Given the description of an element on the screen output the (x, y) to click on. 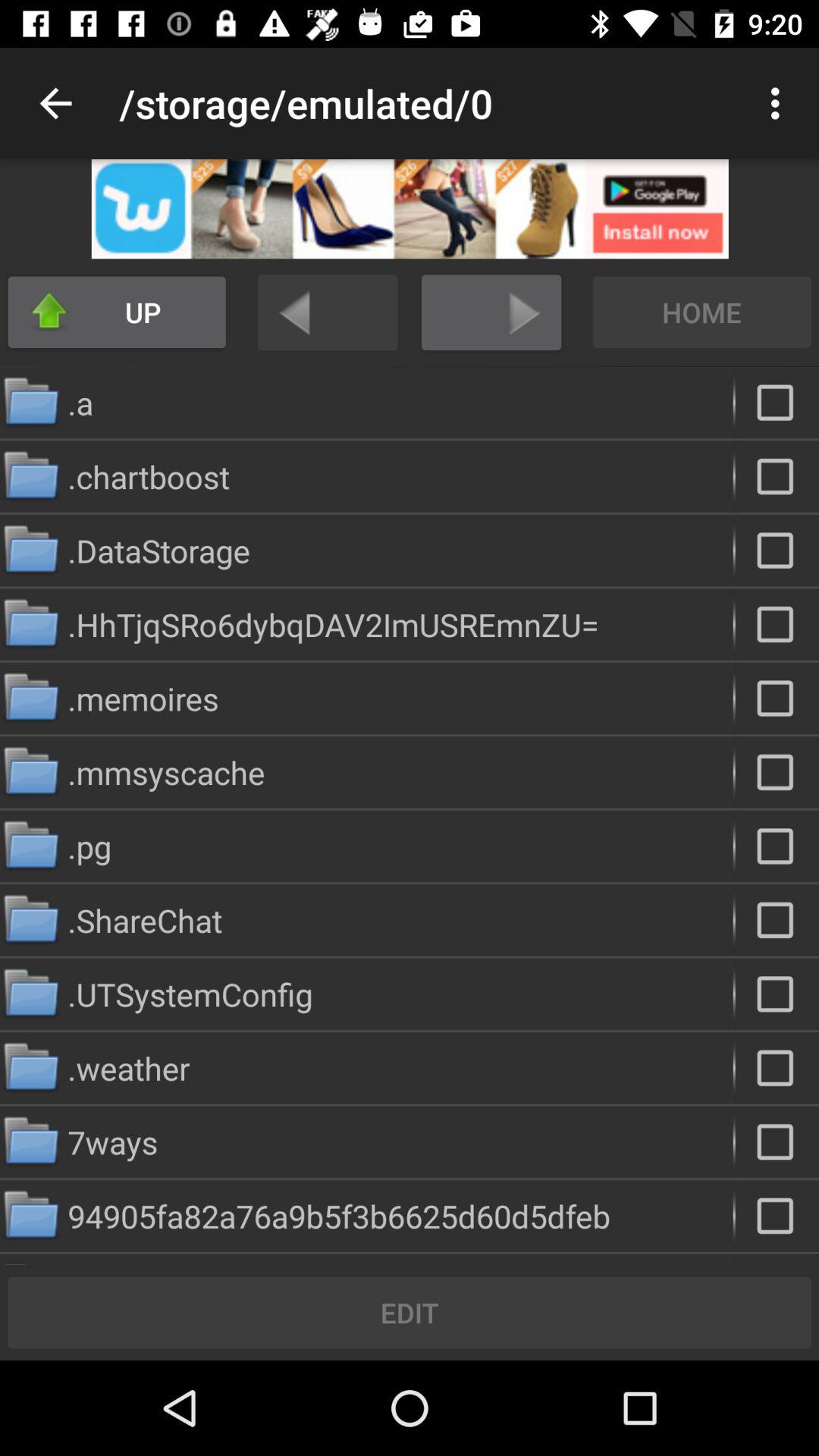
toggle folder selected (777, 994)
